Given the description of an element on the screen output the (x, y) to click on. 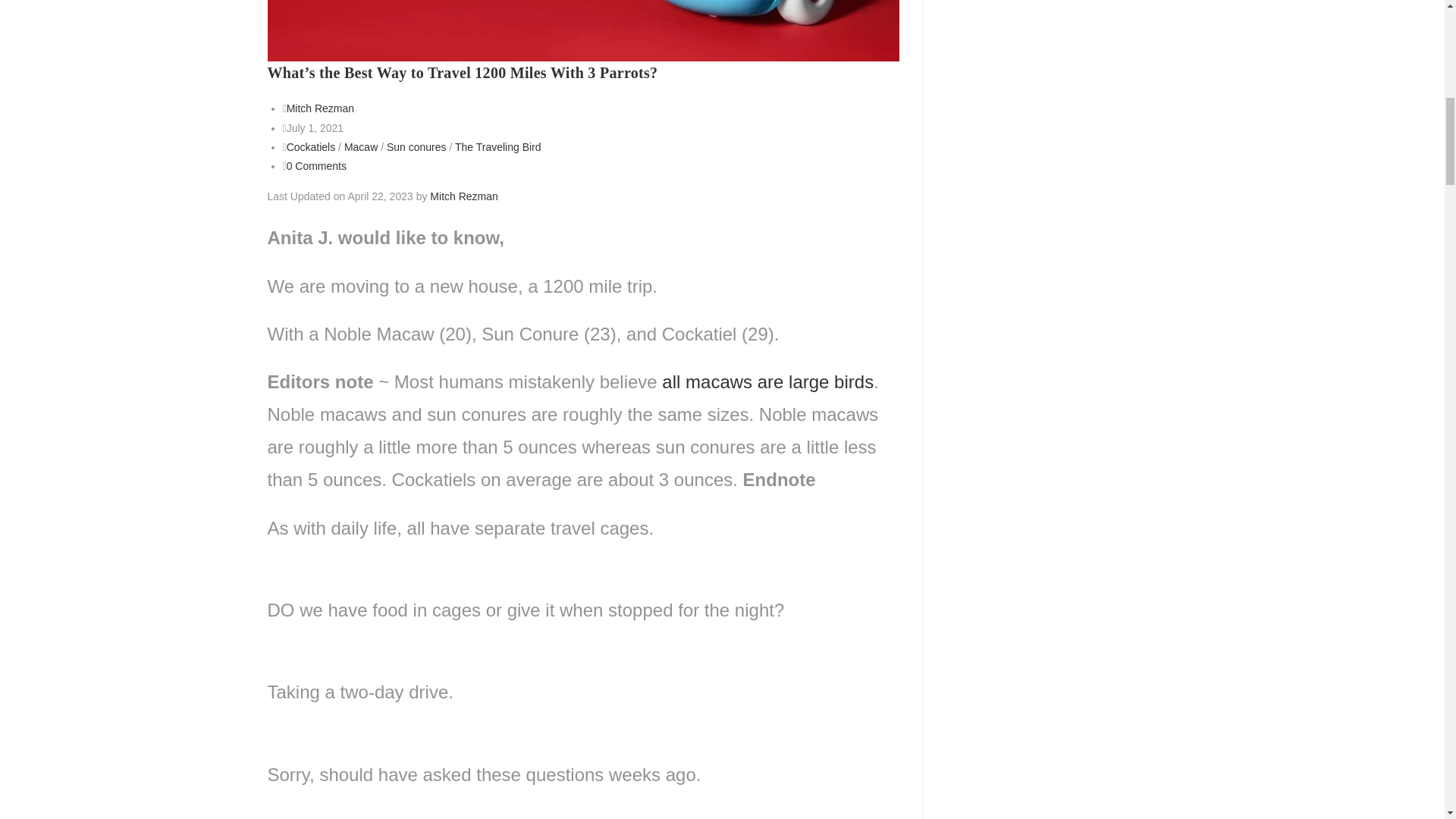
Mitch Rezman (319, 108)
all macaws are large birds (767, 381)
Sun conures (416, 146)
Posts by Mitch Rezman (319, 108)
0 Comments (316, 165)
Macaw (360, 146)
The Traveling Bird (497, 146)
Mitch Rezman (463, 196)
Cockatiels (311, 146)
